Given the description of an element on the screen output the (x, y) to click on. 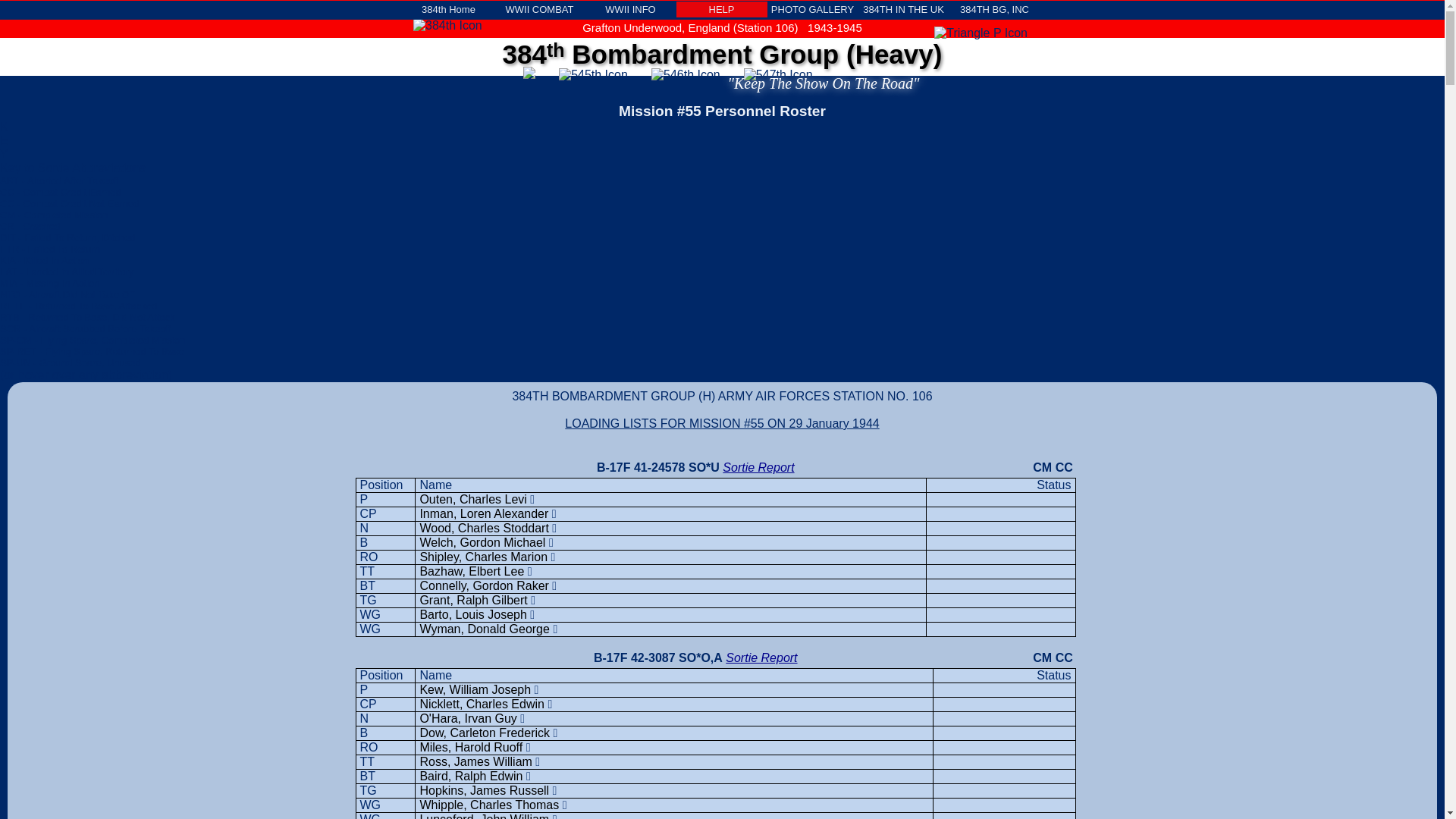
O'Hara, Irvan Guy Element type: text (467, 718)
Connelly, Gordon Raker Element type: text (483, 585)
Welch, Gordon Michael Element type: text (482, 542)
Outen, Charles Levi Element type: text (472, 498)
Baird, Ralph Edwin Element type: text (470, 775)
Sortie Report Element type: text (761, 657)
Wood, Charles Stoddart Element type: text (483, 527)
Inman, Loren Alexander Element type: text (483, 513)
Whipple, Charles Thomas Element type: text (488, 804)
Miles, Harold Ruoff Element type: text (470, 746)
Bazhaw, Elbert Lee Element type: text (471, 570)
Sortie Report Element type: text (757, 467)
Barto, Louis Joseph Element type: text (472, 614)
Hopkins, James Russell Element type: text (484, 790)
Ross, James William Element type: text (475, 761)
Nicklett, Charles Edwin Element type: text (481, 703)
Dow, Carleton Frederick Element type: text (484, 732)
Shipley, Charles Marion Element type: text (483, 556)
Kew, William Joseph Element type: text (474, 689)
384th Home Element type: text (448, 9)
Grant, Ralph Gilbert Element type: text (473, 599)
Wyman, Donald George Element type: text (484, 628)
